Given the description of an element on the screen output the (x, y) to click on. 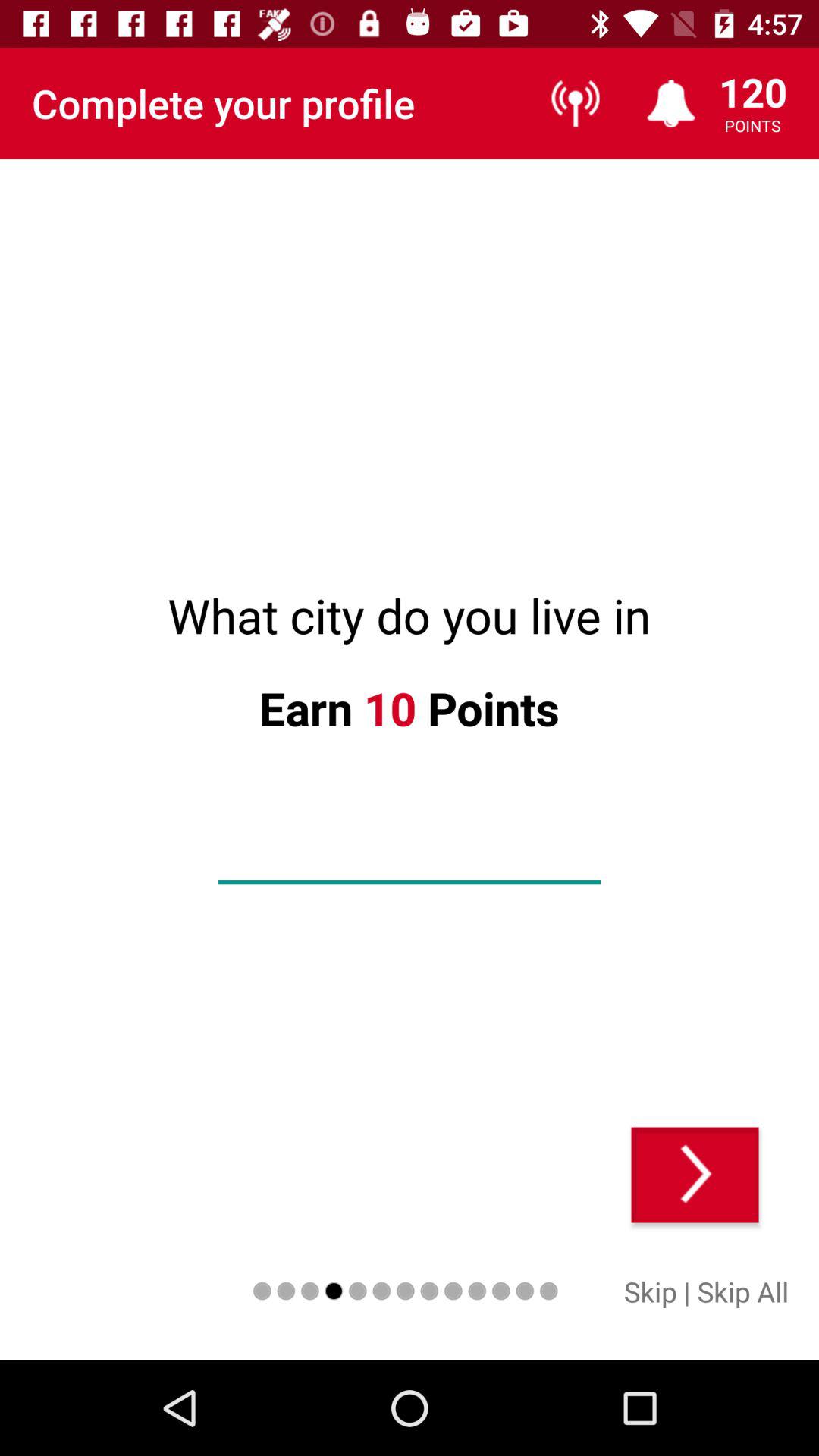
flip to skip all icon (742, 1291)
